Given the description of an element on the screen output the (x, y) to click on. 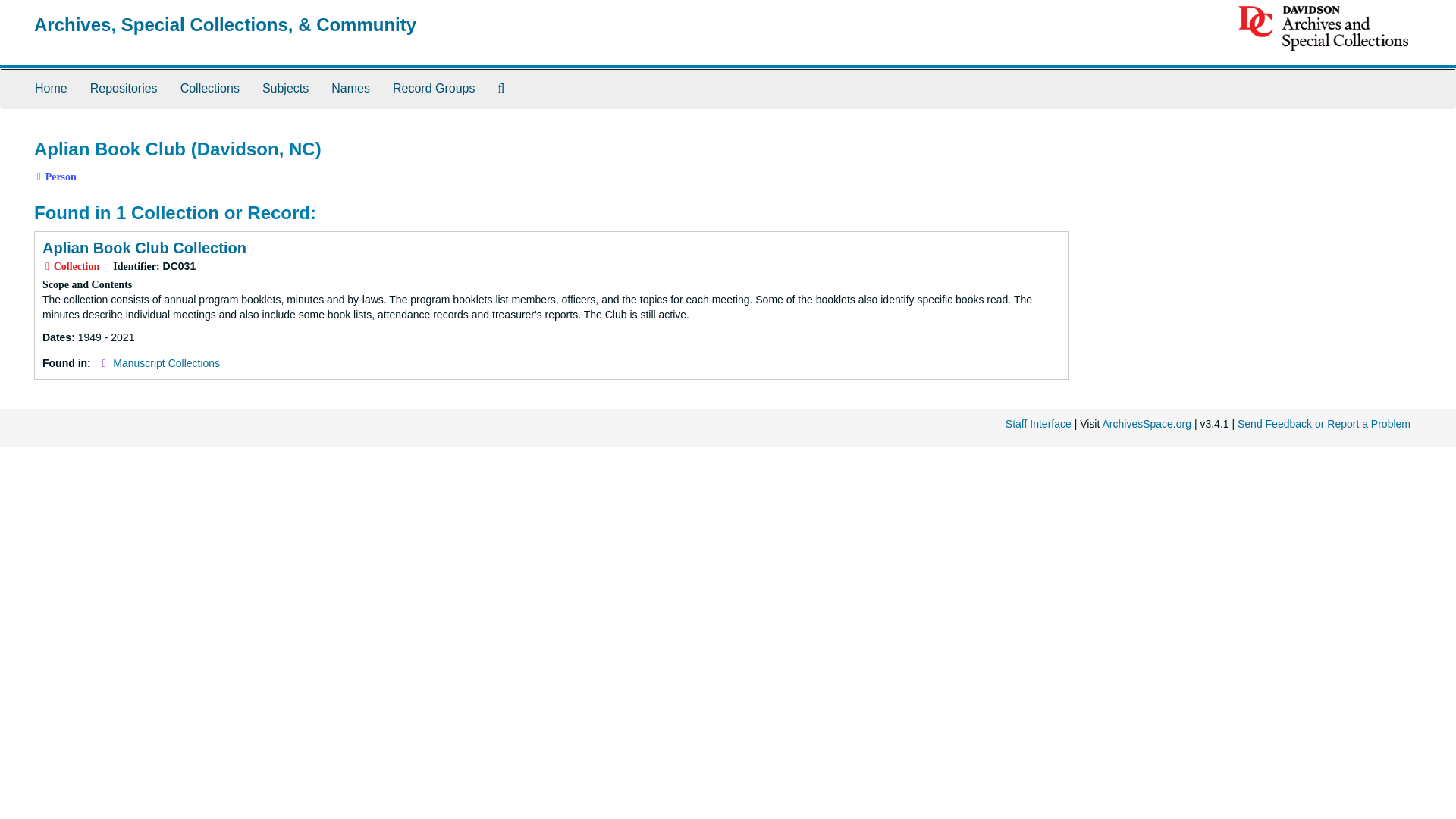
Page Actions (1139, 131)
translation missing: en.Home (50, 88)
ArchivesSpace.org (1146, 423)
Return to the ArchivesSpace homepage (224, 24)
Repositories (123, 88)
Manuscript Collections (166, 363)
Home (50, 88)
Record Groups (433, 88)
Send Feedback or Report a Problem (1323, 423)
Names (350, 88)
Aplian Book Club Collection (144, 247)
Subjects (285, 88)
Staff Interface (1038, 423)
Collections (209, 88)
